Given the description of an element on the screen output the (x, y) to click on. 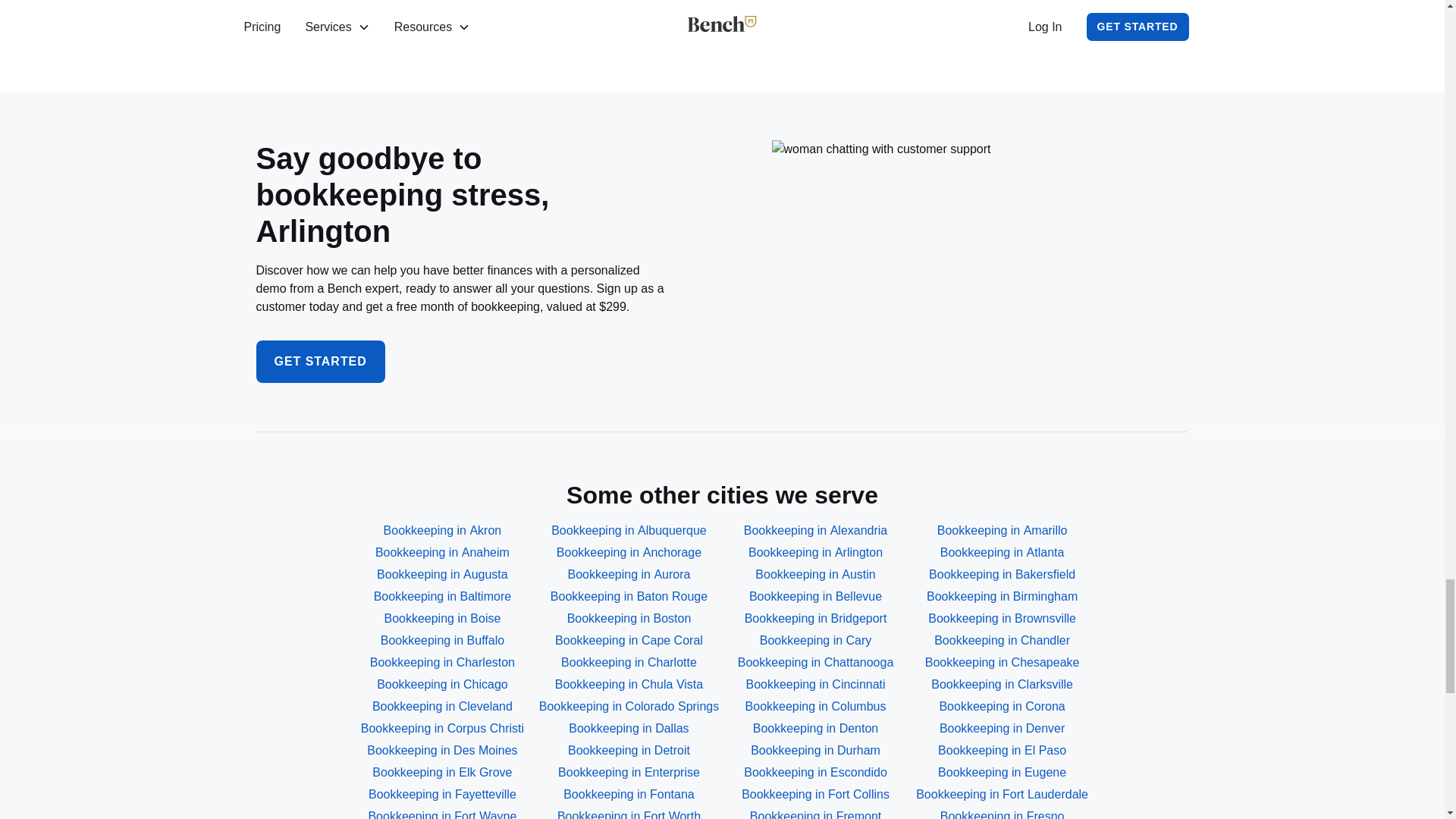
GET STARTED (442, 597)
